Given the description of an element on the screen output the (x, y) to click on. 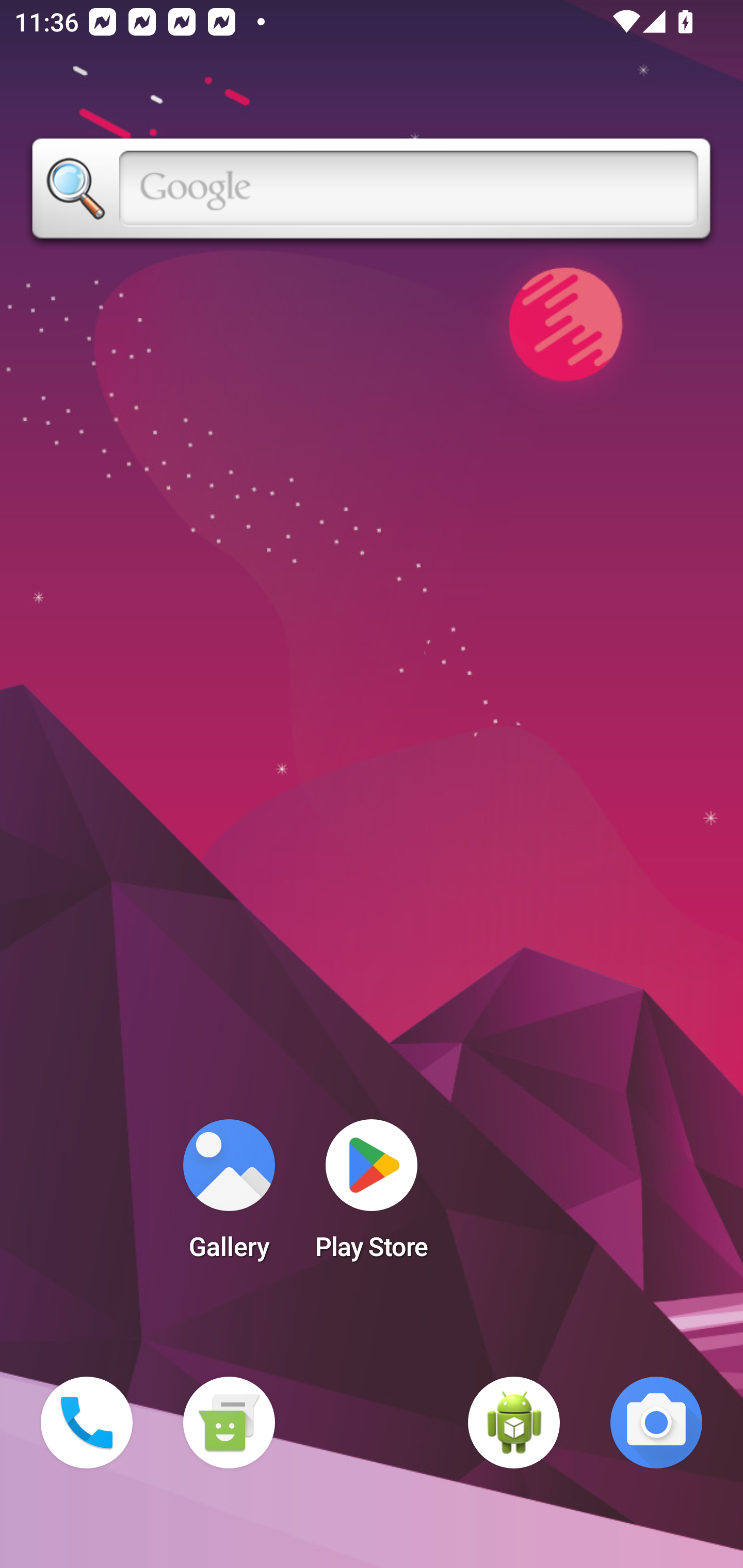
Gallery (228, 1195)
Play Store (371, 1195)
Phone (86, 1422)
Messaging (228, 1422)
WebView Browser Tester (513, 1422)
Camera (656, 1422)
